Given the description of an element on the screen output the (x, y) to click on. 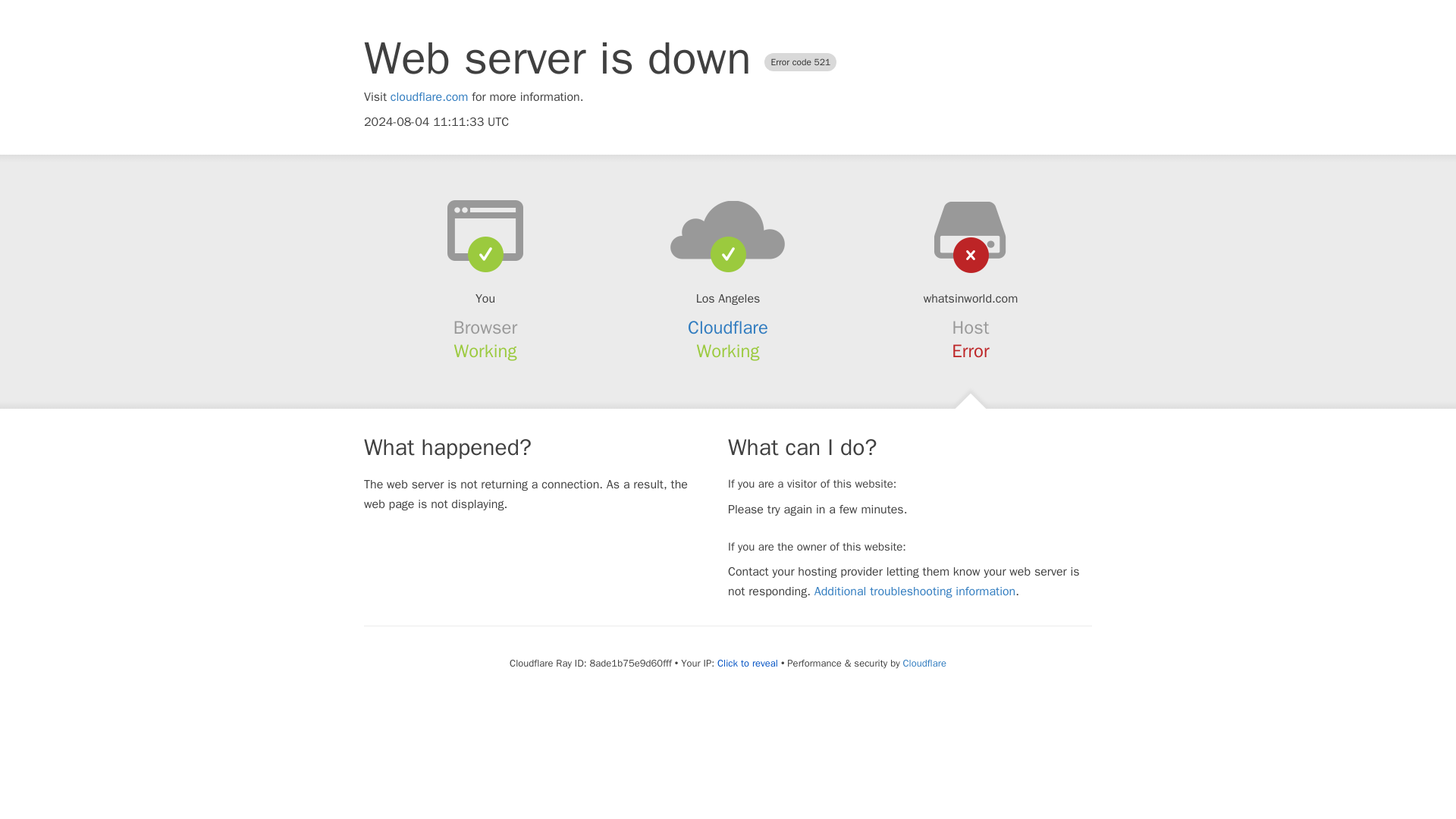
Additional troubleshooting information (913, 590)
cloudflare.com (429, 96)
Cloudflare (727, 327)
Cloudflare (924, 662)
Click to reveal (747, 663)
